Given the description of an element on the screen output the (x, y) to click on. 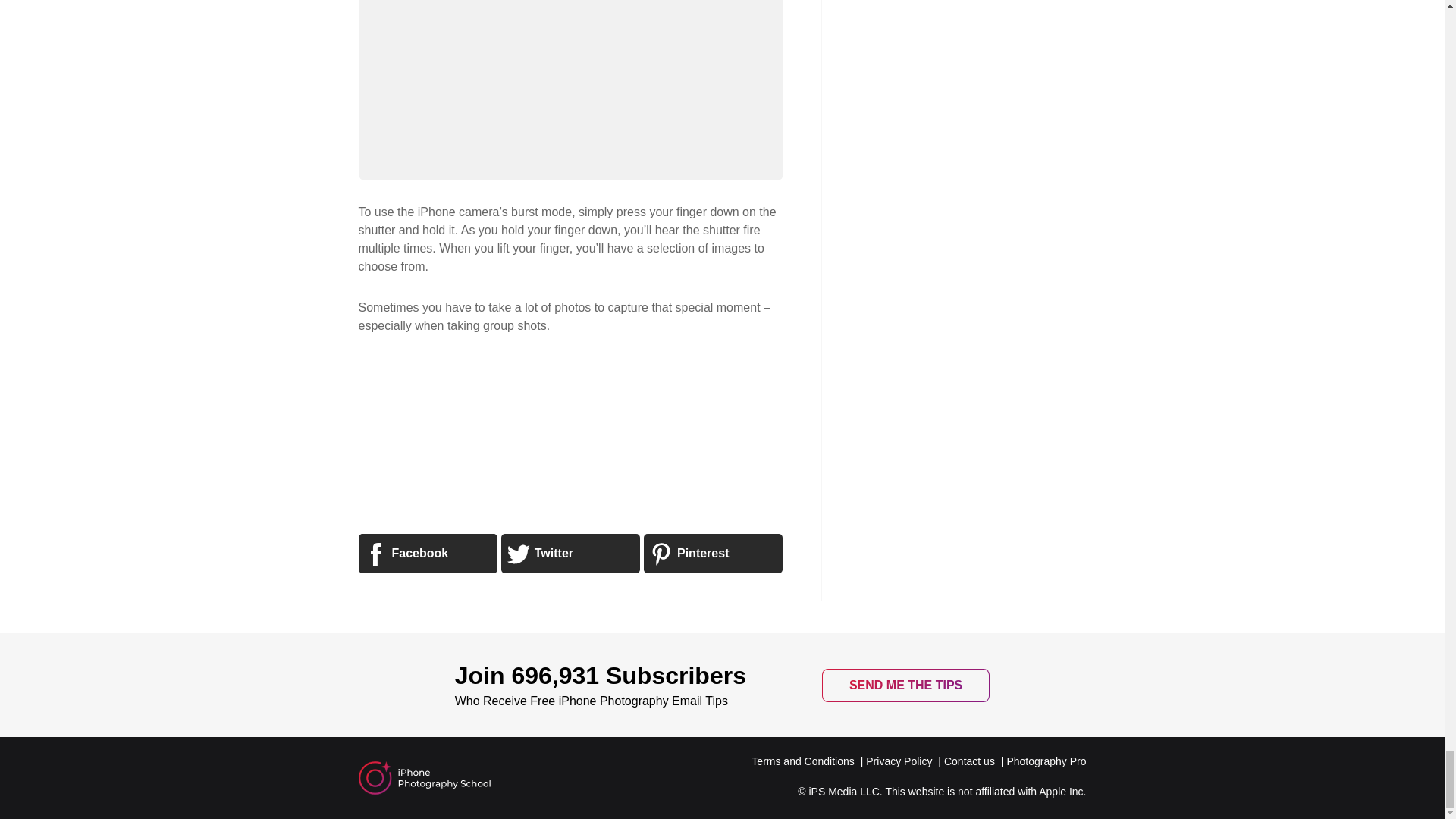
Twitter (570, 553)
Pinterest (713, 553)
Facebook (427, 553)
